Given the description of an element on the screen output the (x, y) to click on. 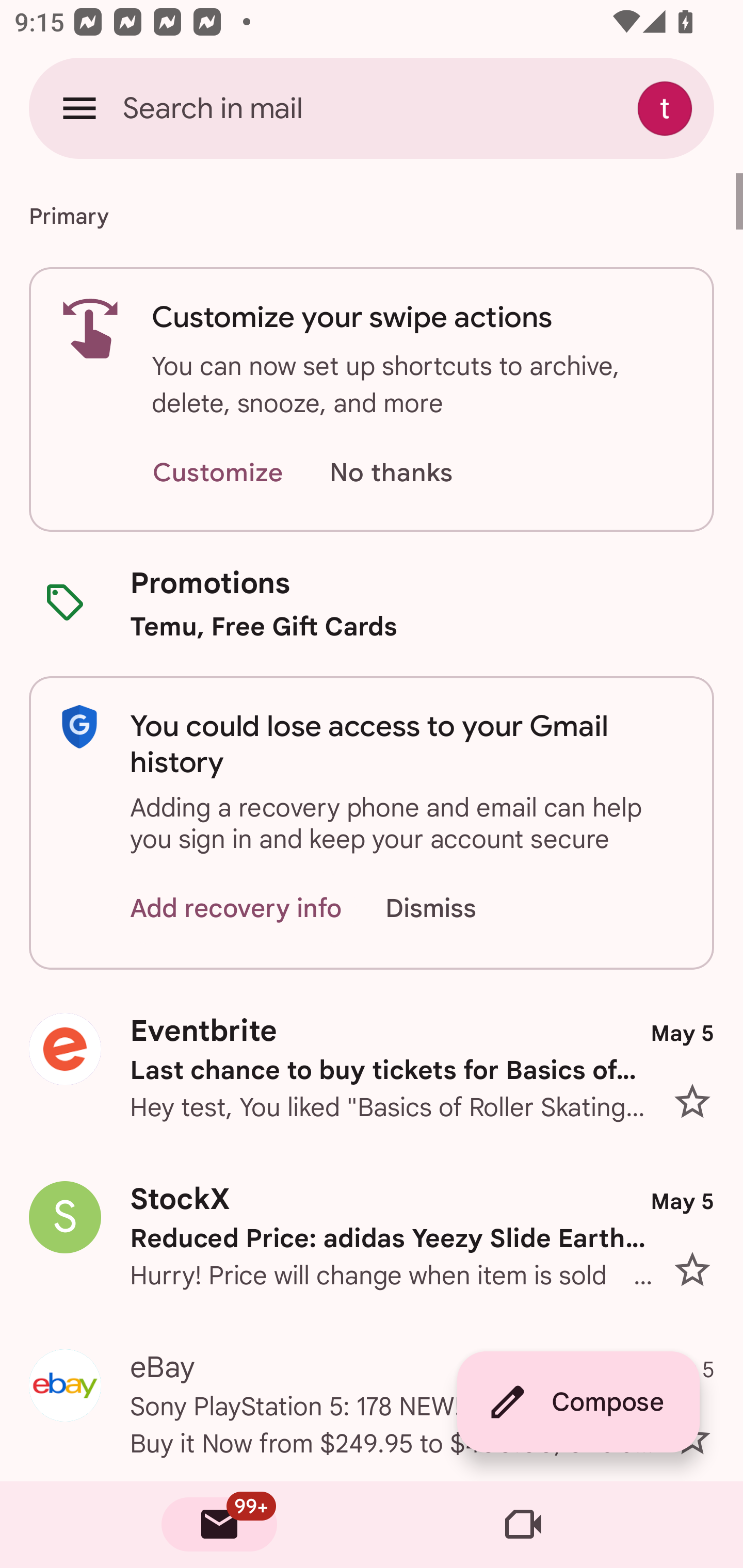
Open navigation drawer (79, 108)
Customize (217, 473)
No thanks (390, 473)
Promotions Temu, Free Gift Cards (371, 603)
Add recovery info (235, 908)
Dismiss (449, 908)
Compose (577, 1401)
Meet (523, 1524)
